Given the description of an element on the screen output the (x, y) to click on. 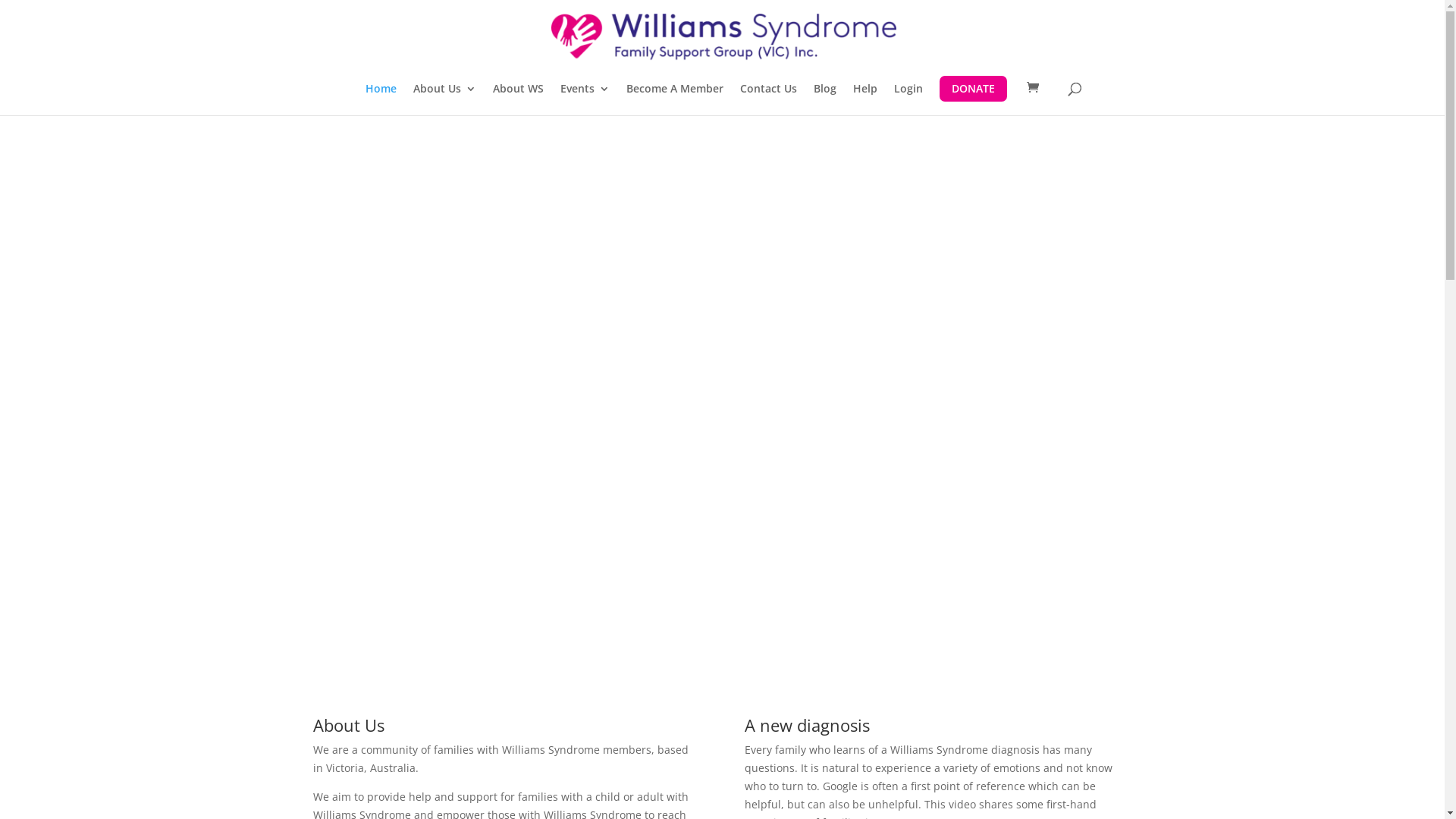
Blog Element type: text (823, 99)
Login Element type: text (907, 99)
Events Element type: text (583, 99)
Become A Member Element type: text (674, 99)
About Us Element type: text (443, 99)
DONATE Element type: text (972, 88)
Home Element type: text (380, 99)
Help Element type: text (864, 99)
Contact Us Element type: text (768, 99)
About WS Element type: text (517, 99)
